Given the description of an element on the screen output the (x, y) to click on. 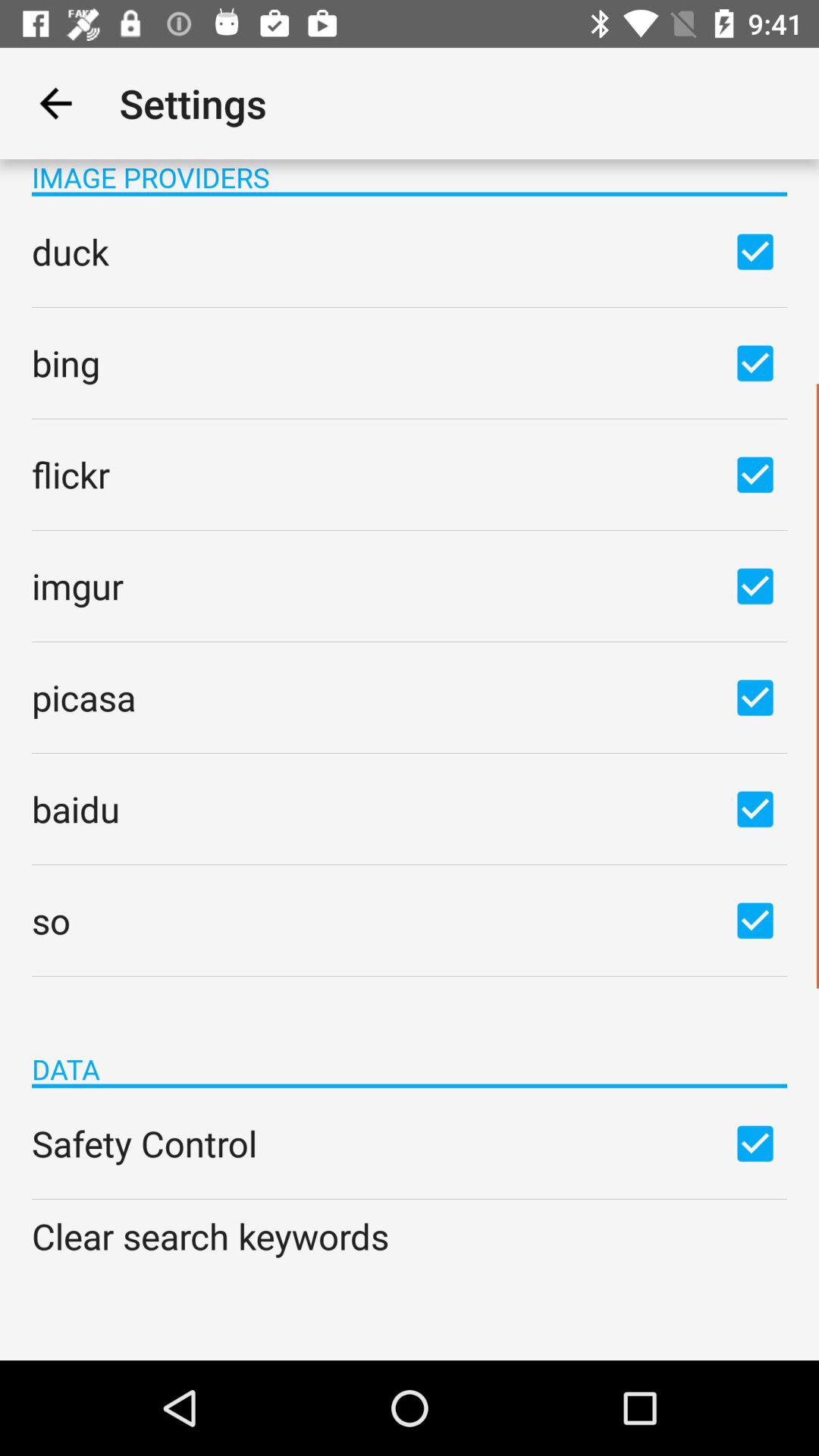
enable the setting (755, 1143)
